Given the description of an element on the screen output the (x, y) to click on. 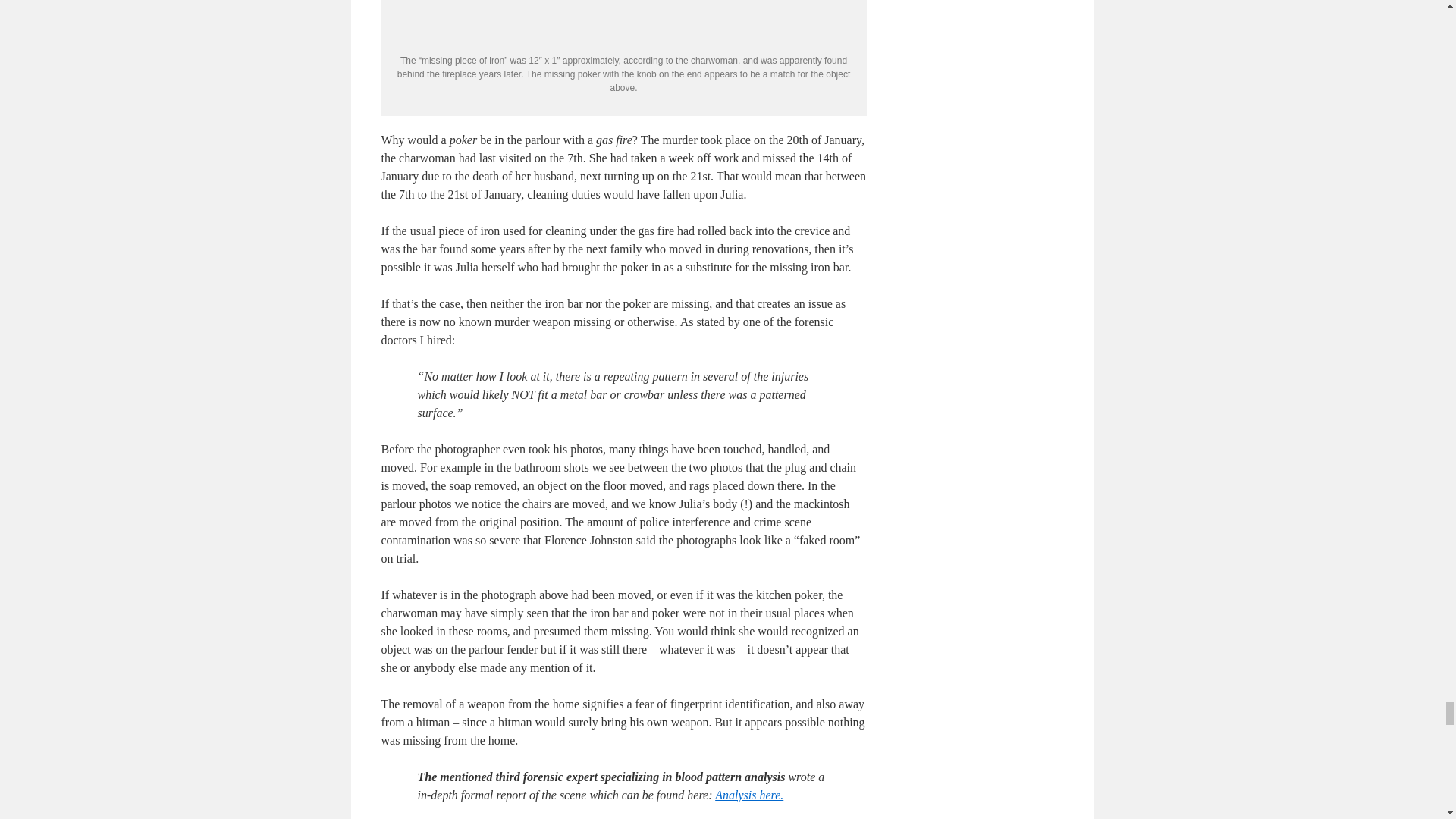
Analysis here. (748, 794)
